Given the description of an element on the screen output the (x, y) to click on. 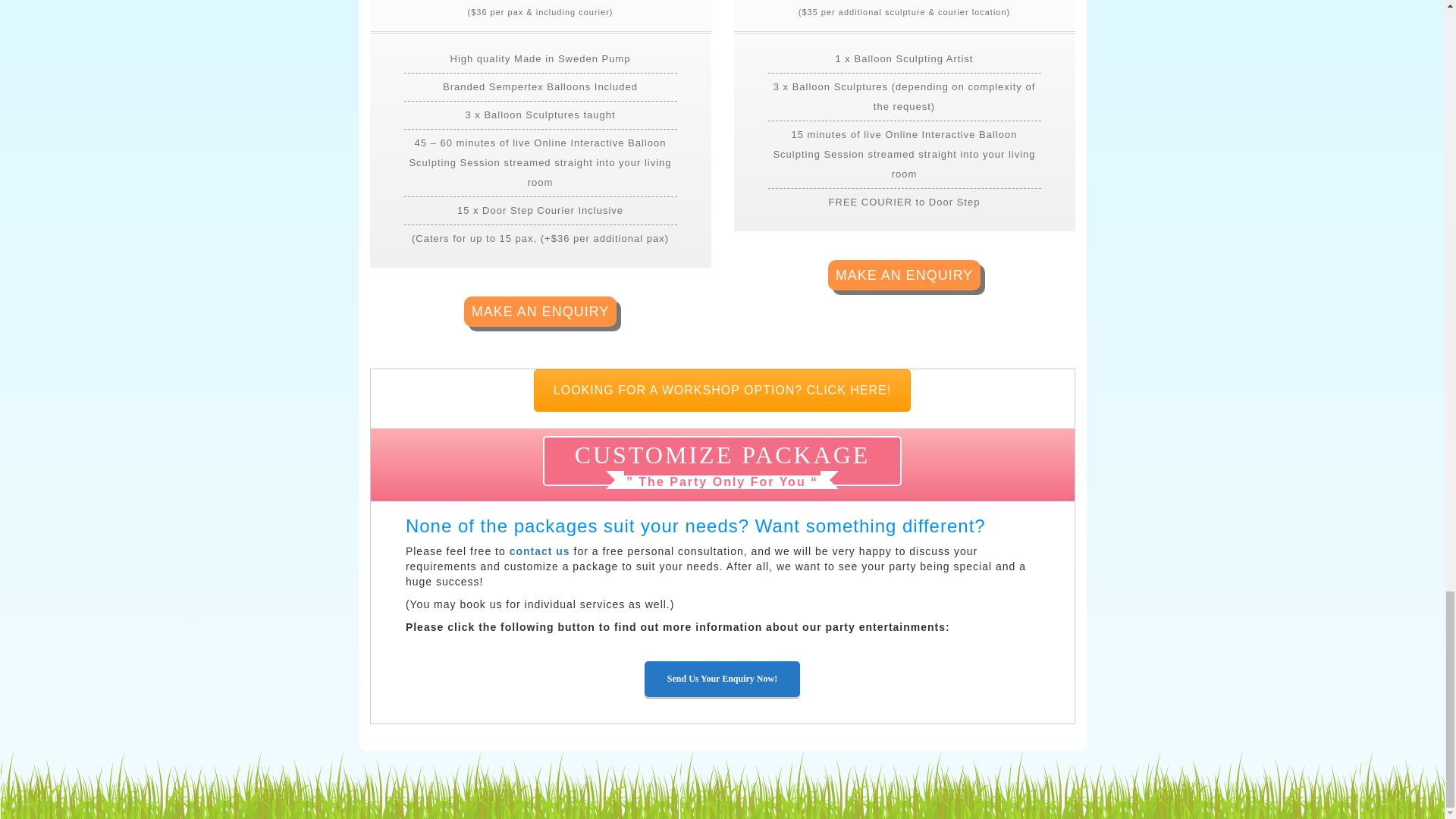
LOOKING FOR A WORKSHOP OPTION? CLICK HERE! (722, 390)
LOOKING FOR A WORKSHOP OPTION? CLICK HERE! (722, 390)
contact us (539, 551)
Send Us Your Enquiry Now! (722, 678)
MAKE AN ENQUIRY (904, 275)
MAKE AN ENQUIRY (540, 311)
